Given the description of an element on the screen output the (x, y) to click on. 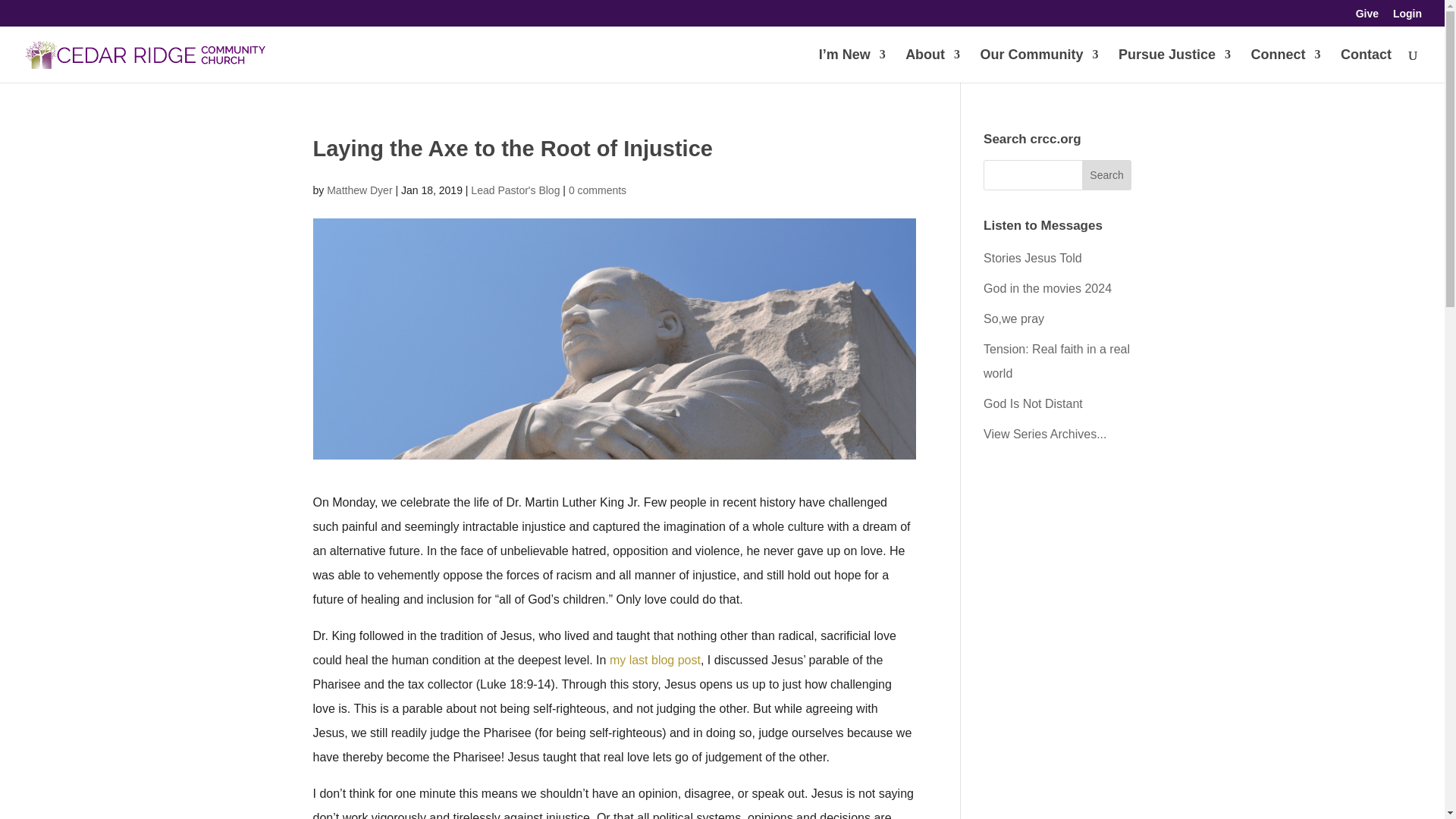
About (932, 65)
Search (1106, 174)
Connect (1285, 65)
Posts by Matthew Dyer (358, 190)
Give (1366, 16)
Pursue Justice (1174, 65)
Our Community (1039, 65)
Login (1407, 16)
